Given the description of an element on the screen output the (x, y) to click on. 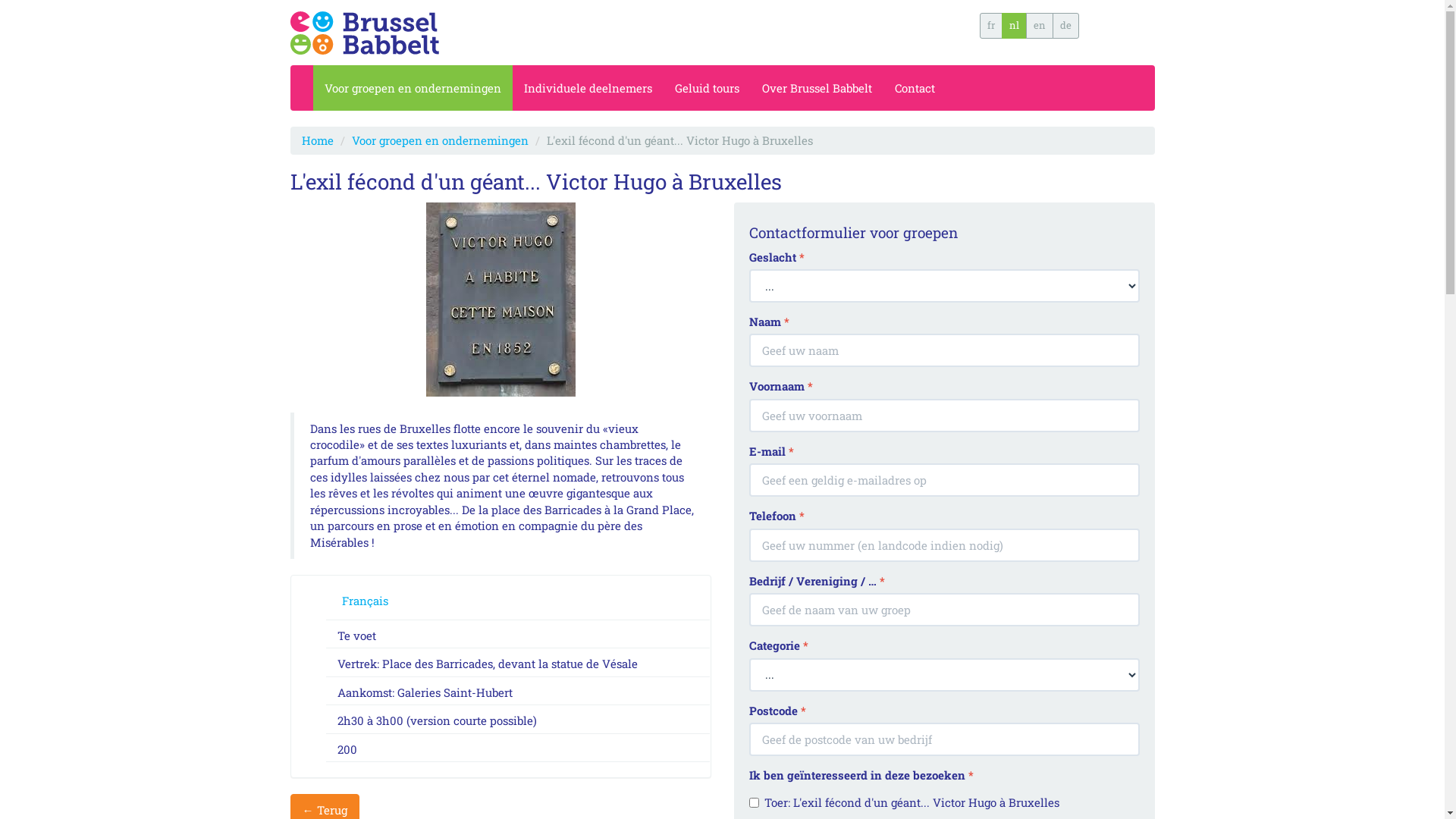
Over Brussel Babbelt Element type: text (816, 87)
nl Element type: text (1013, 25)
Geluid tours Element type: text (705, 87)
fr Element type: text (990, 25)
de Element type: text (1065, 25)
Voor groepen en ondernemingen Element type: text (439, 139)
en Element type: text (1038, 25)
Voor groepen en ondernemingen Element type: text (411, 87)
Home Element type: text (317, 139)
Contact Element type: text (913, 87)
Individuele deelnemers Element type: text (587, 87)
